Given the description of an element on the screen output the (x, y) to click on. 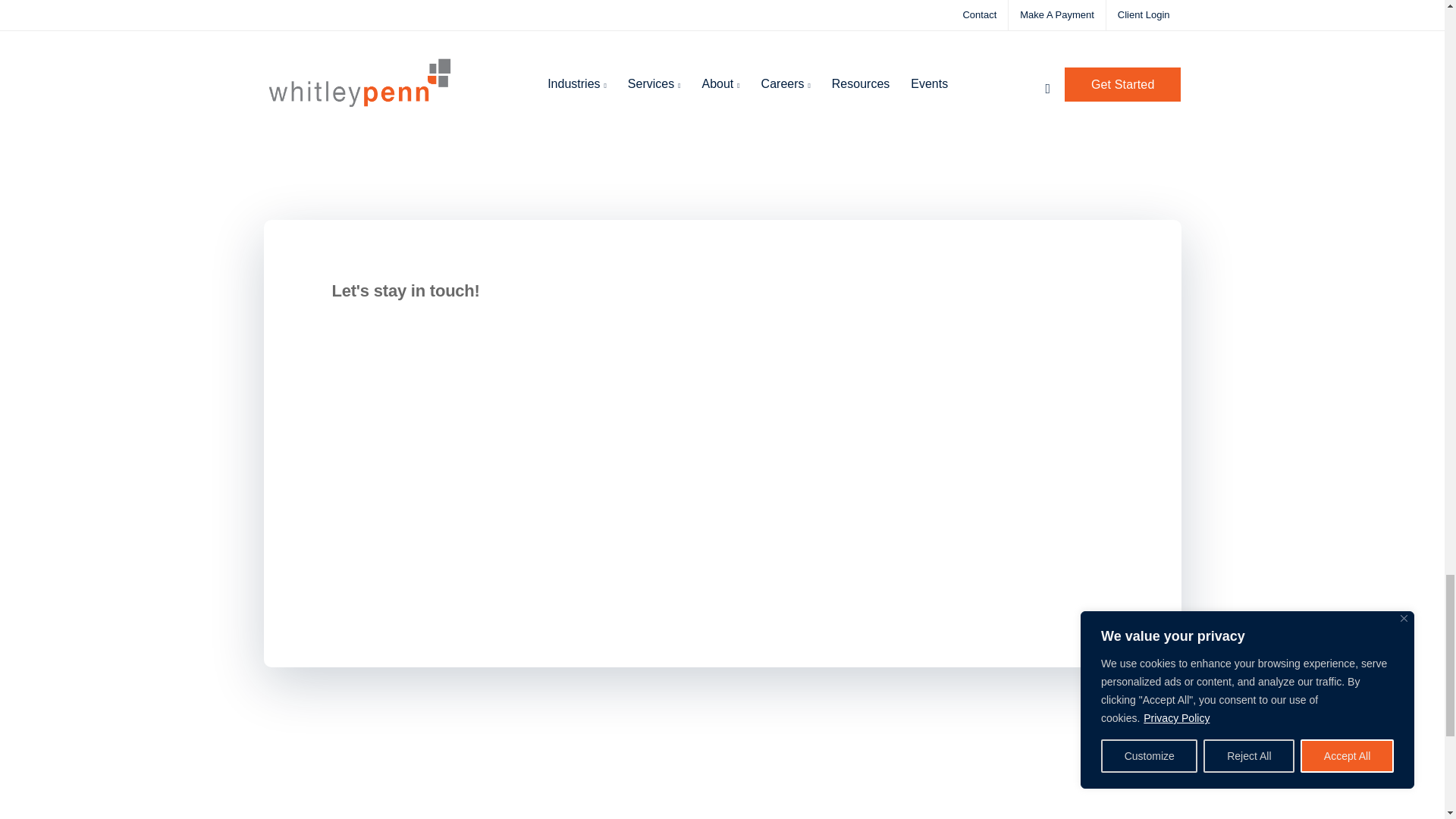
Form 1 (492, 452)
